Given the description of an element on the screen output the (x, y) to click on. 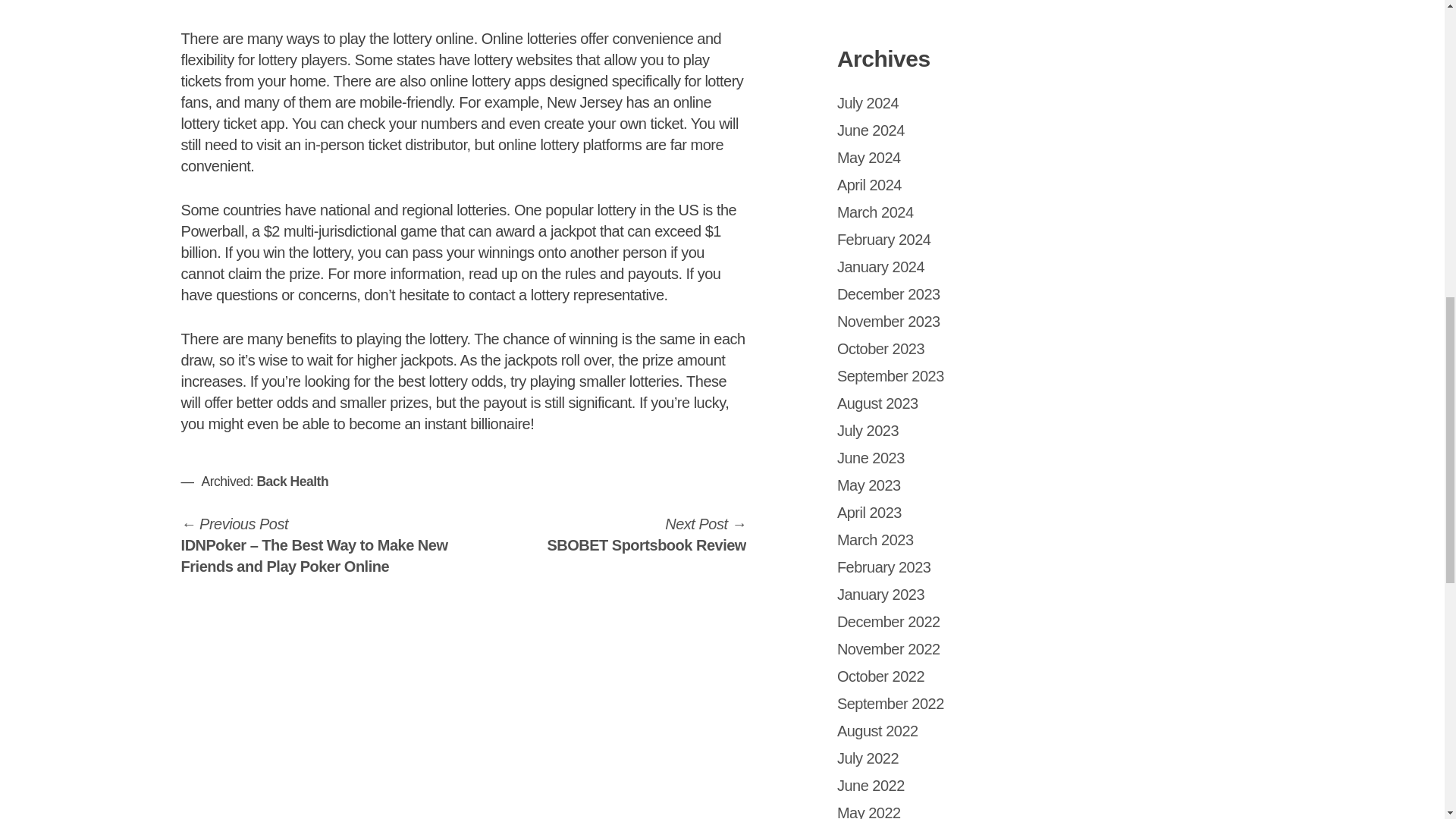
April 2024 (869, 184)
November 2022 (888, 648)
August 2023 (877, 402)
September 2022 (890, 703)
June 2024 (870, 130)
May 2023 (869, 484)
May 2024 (646, 534)
July 2023 (869, 157)
Back Health (867, 430)
November 2023 (292, 481)
October 2022 (888, 321)
March 2024 (880, 676)
August 2022 (875, 211)
September 2023 (877, 730)
